Given the description of an element on the screen output the (x, y) to click on. 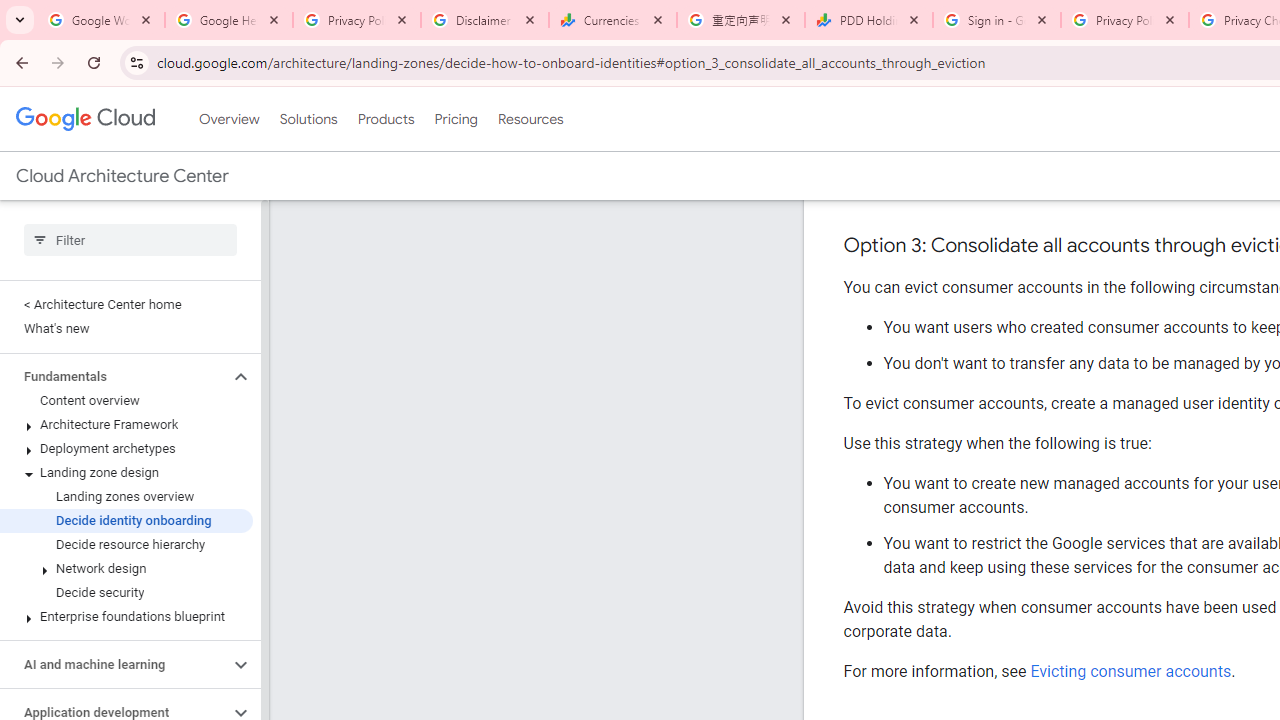
Decide security (126, 592)
Google Cloud (84, 118)
Architecture Framework (126, 425)
Sign in - Google Accounts (997, 20)
Type to filter (130, 239)
AI and machine learning (114, 664)
Enterprise foundations blueprint (126, 616)
Resources (530, 119)
Evicting consumer accounts (1130, 671)
Decide resource hierarchy (126, 544)
